Given the description of an element on the screen output the (x, y) to click on. 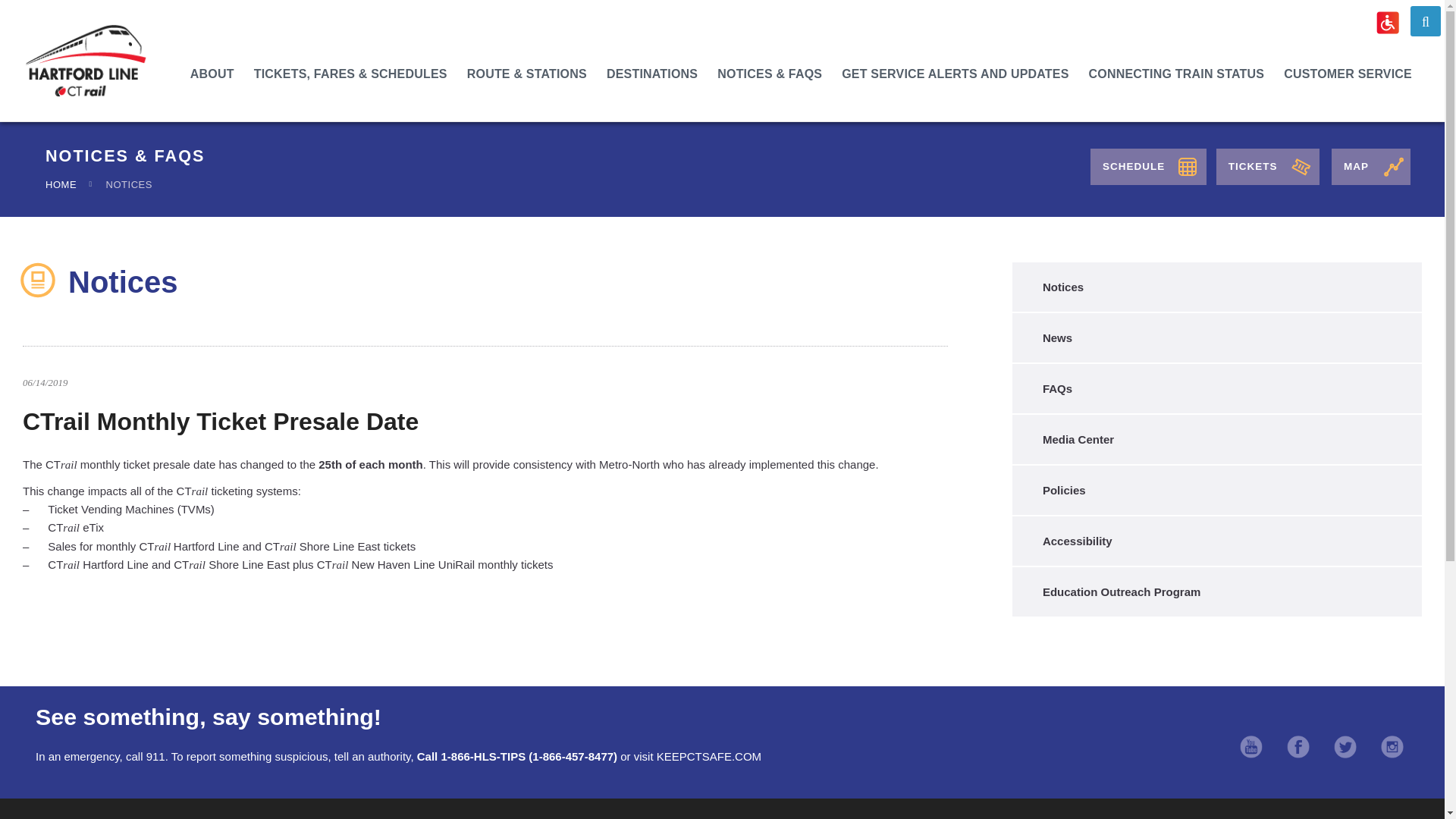
Opens in new window (1251, 747)
Policies (1213, 489)
CONNECTING TRAIN STATUS (1176, 73)
Opens in new window (1298, 747)
News (1213, 337)
NOTICES (129, 184)
HOME (61, 184)
FAQs (1213, 388)
ABOUT (212, 73)
Opens in new window (1345, 747)
Media Center (1213, 439)
TICKETS (1267, 166)
MAP (1371, 166)
GET SERVICE ALERTS AND UPDATES (954, 73)
Education Outreach Program (1213, 591)
